Given the description of an element on the screen output the (x, y) to click on. 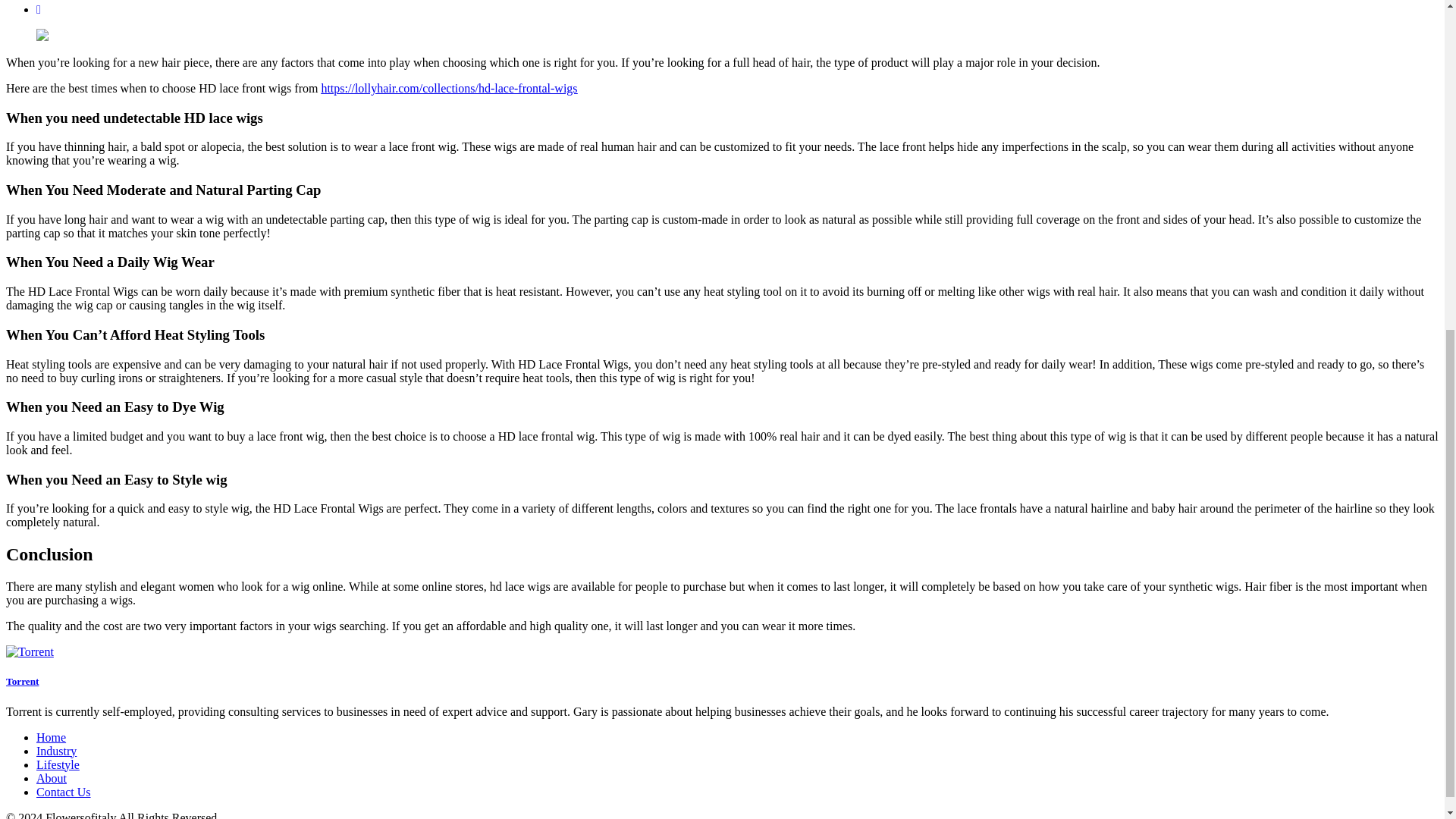
Home (50, 737)
About (51, 778)
Contact Us (63, 791)
About (51, 778)
Torrent (22, 681)
Home (50, 737)
Industry (56, 750)
Lifestyle (58, 764)
